Given the description of an element on the screen output the (x, y) to click on. 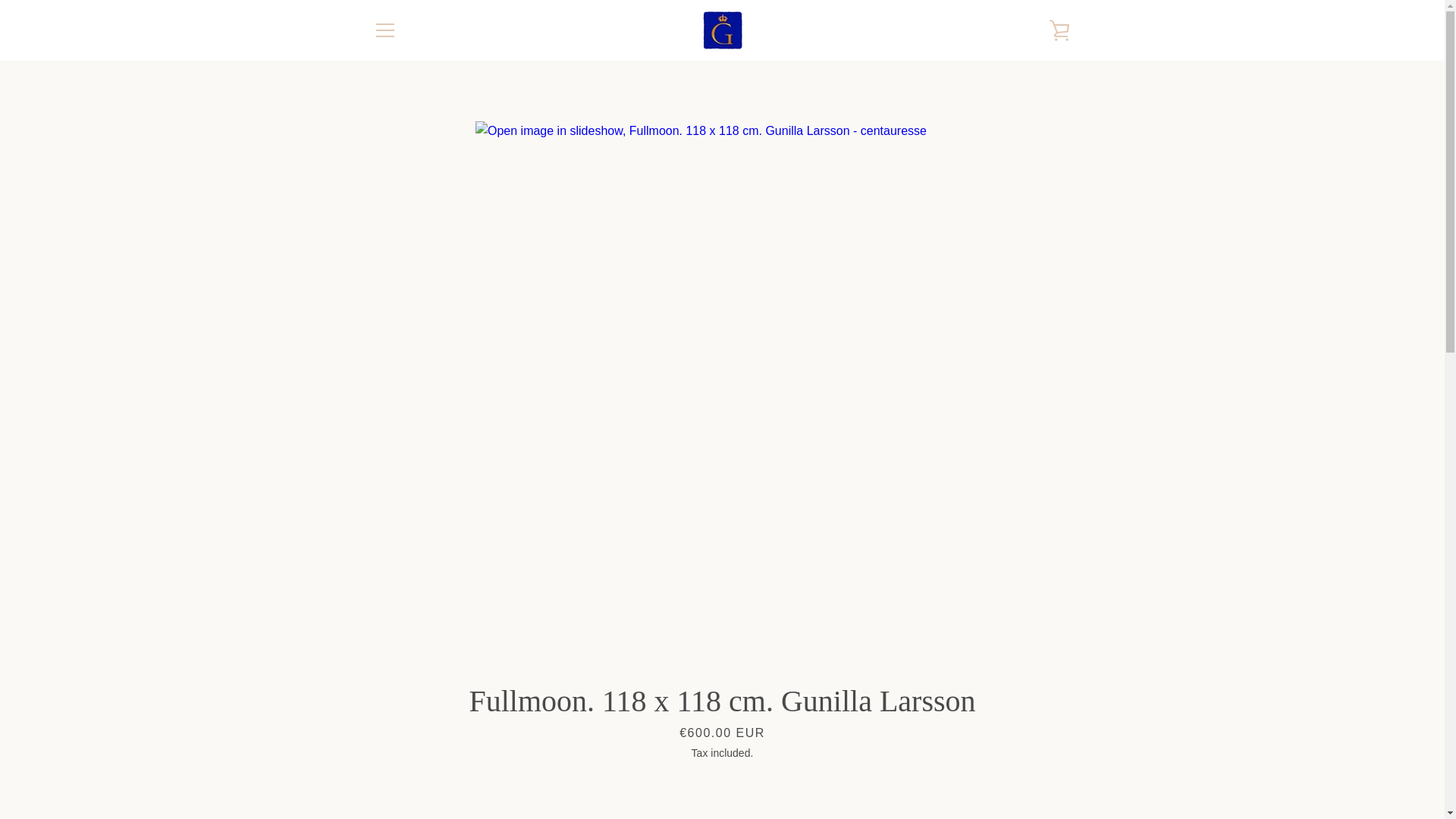
VIEW CART (1059, 30)
MENU (384, 30)
